Given the description of an element on the screen output the (x, y) to click on. 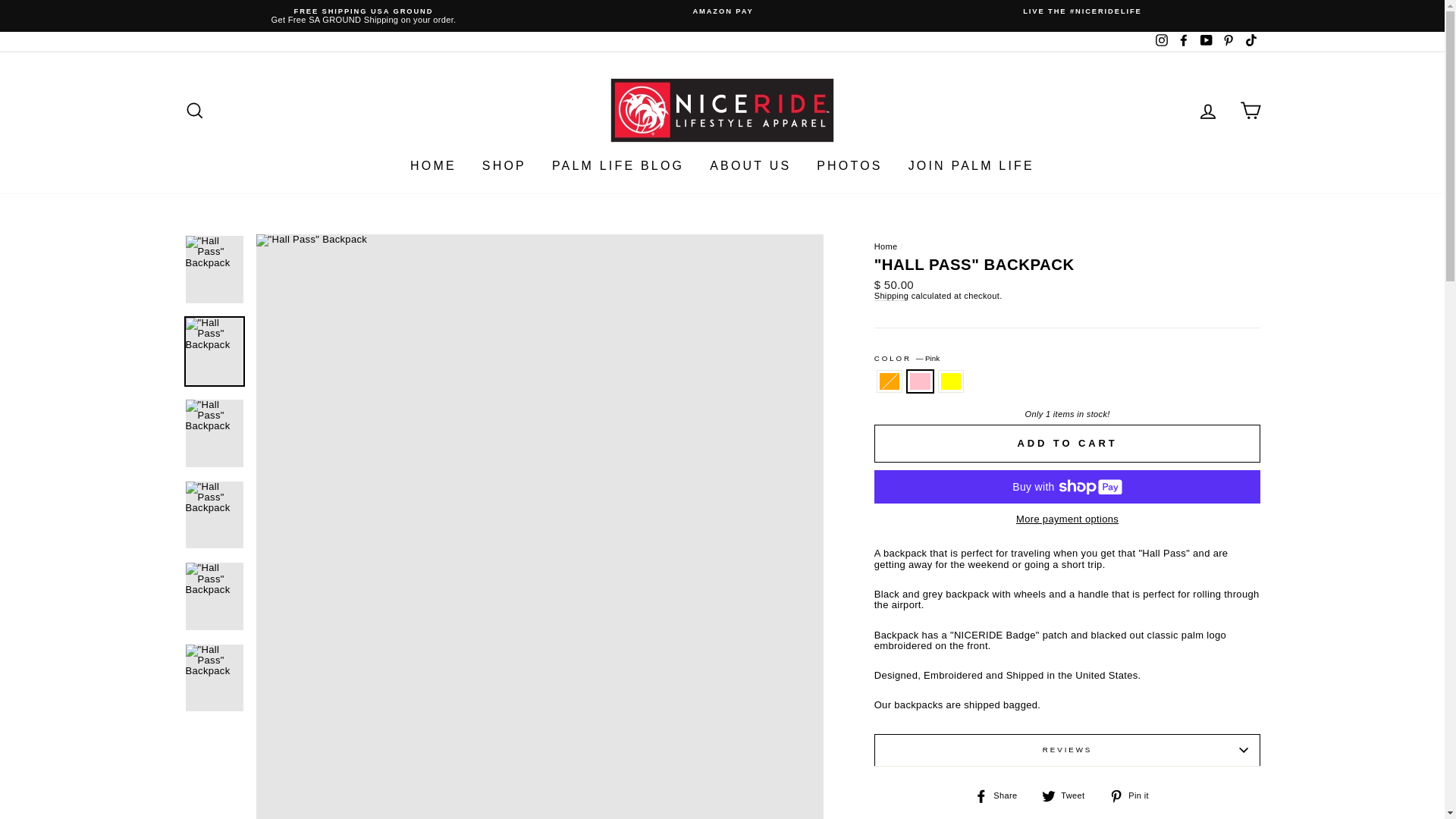
Pin on Pinterest (1133, 795)
NICERIDE on TikTok (1250, 41)
Tweet on Twitter (1069, 795)
Share on Facebook (1000, 795)
NICERIDE on YouTube (1205, 41)
Back to the frontpage (886, 245)
NICERIDE on Instagram (1161, 41)
NICERIDE on Facebook (1183, 41)
NICERIDE on Pinterest (1228, 41)
